Given the description of an element on the screen output the (x, y) to click on. 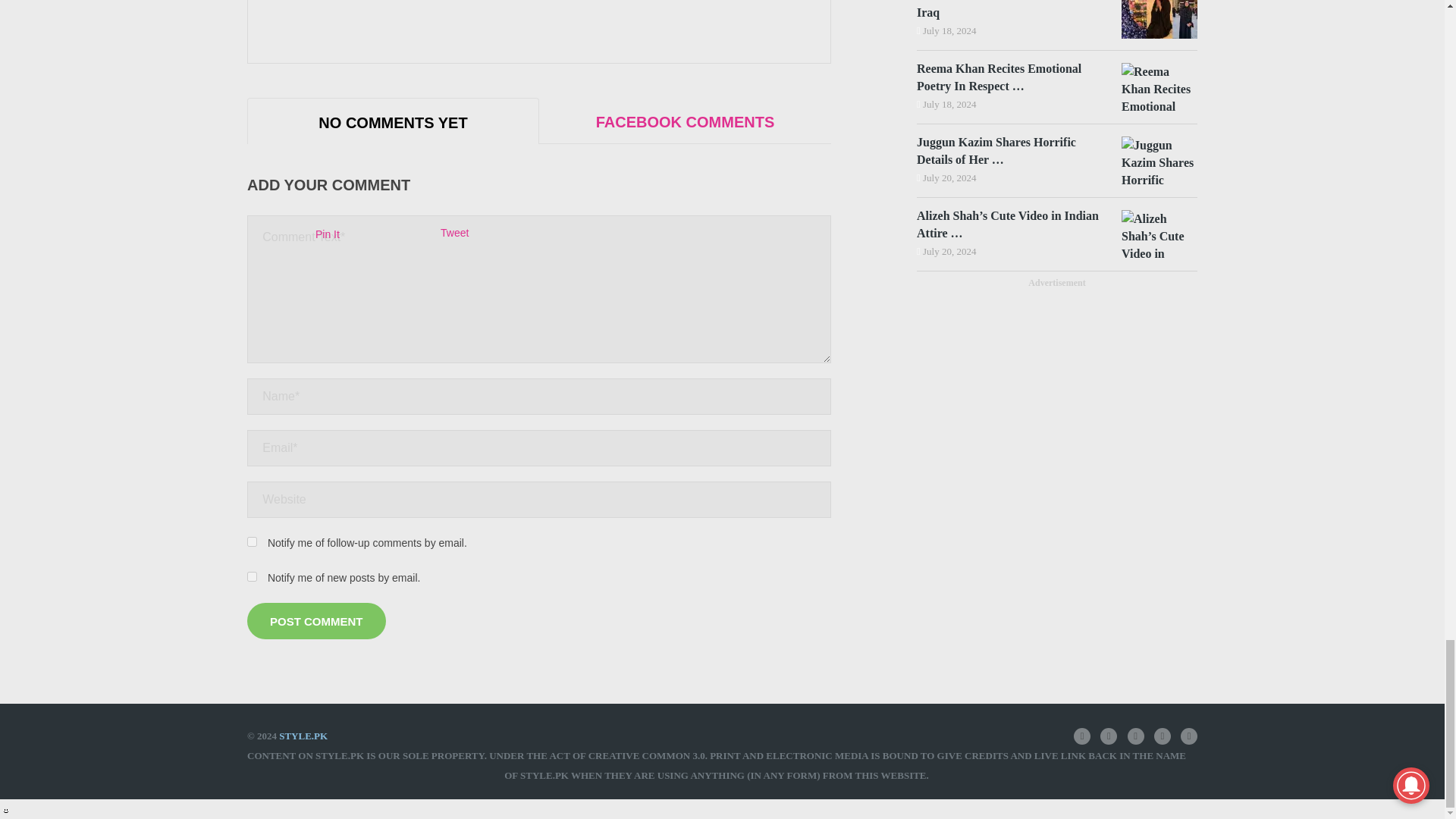
subscribe (252, 576)
Post Comment (316, 620)
subscribe (252, 542)
